Given the description of an element on the screen output the (x, y) to click on. 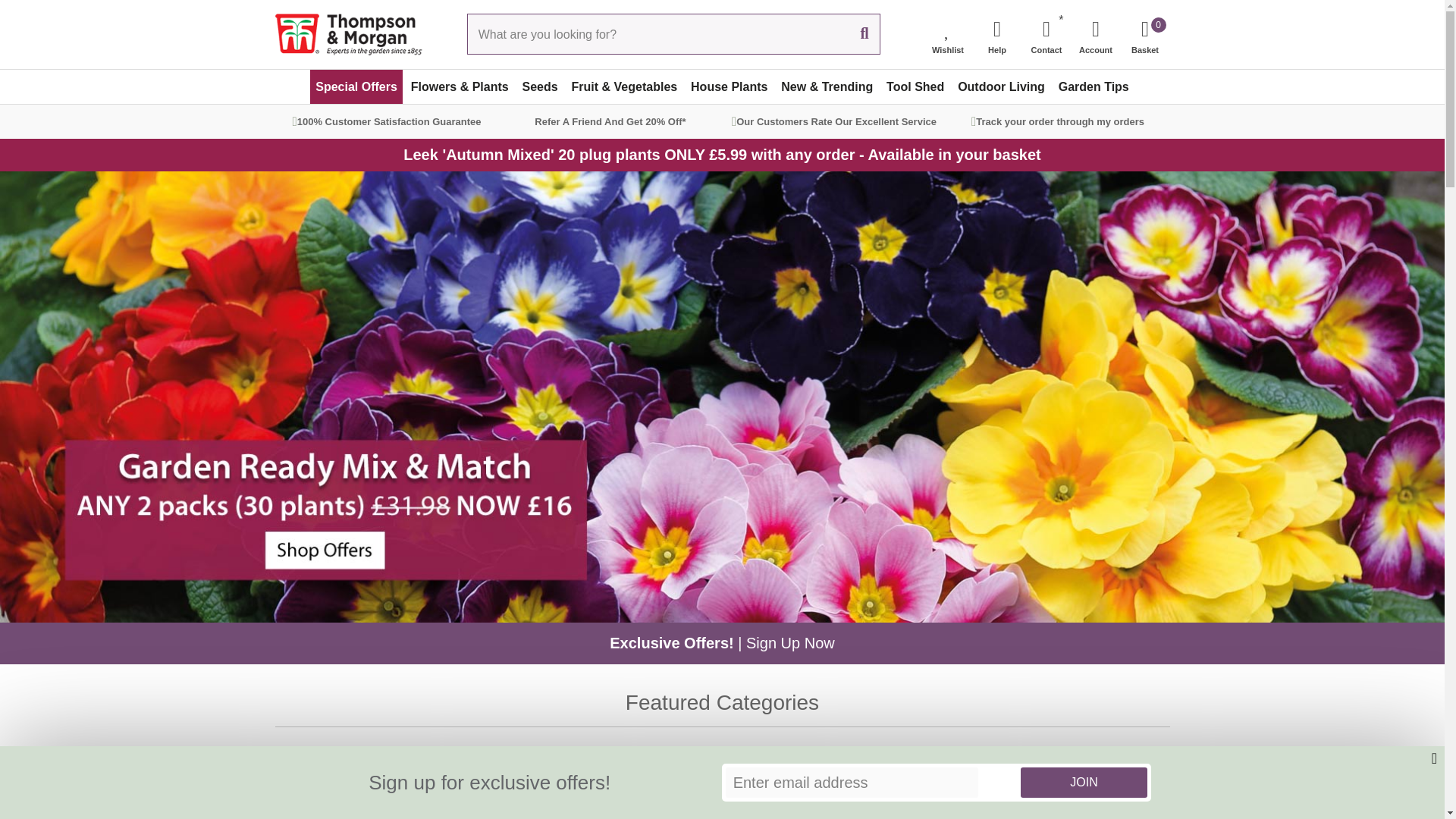
Join (1083, 782)
Account (1094, 32)
Special Offers (1145, 32)
Help (356, 86)
Wishlist (997, 32)
